Given the description of an element on the screen output the (x, y) to click on. 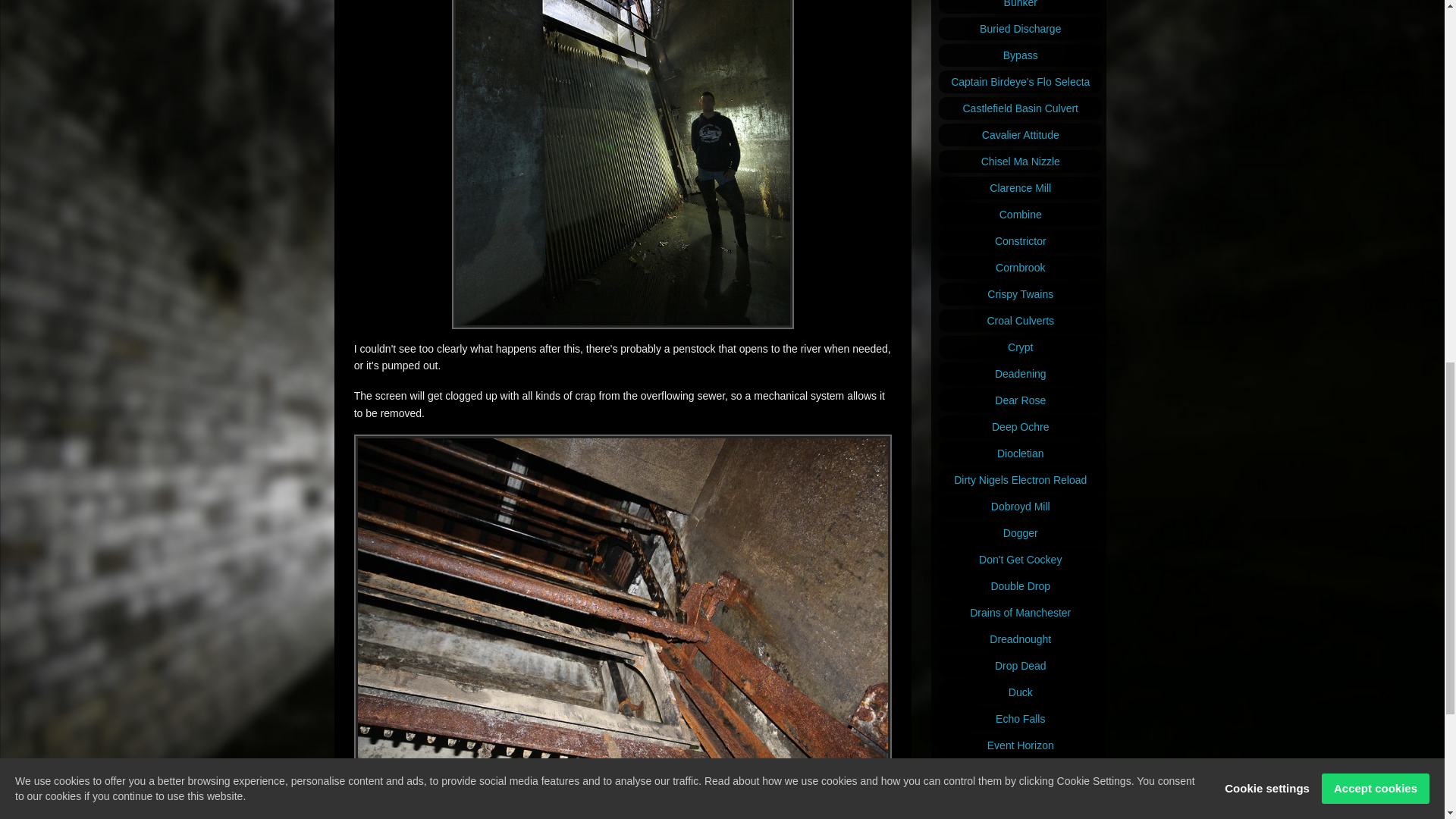
Buried Discharge (1020, 28)
Bunker (1020, 6)
